Given the description of an element on the screen output the (x, y) to click on. 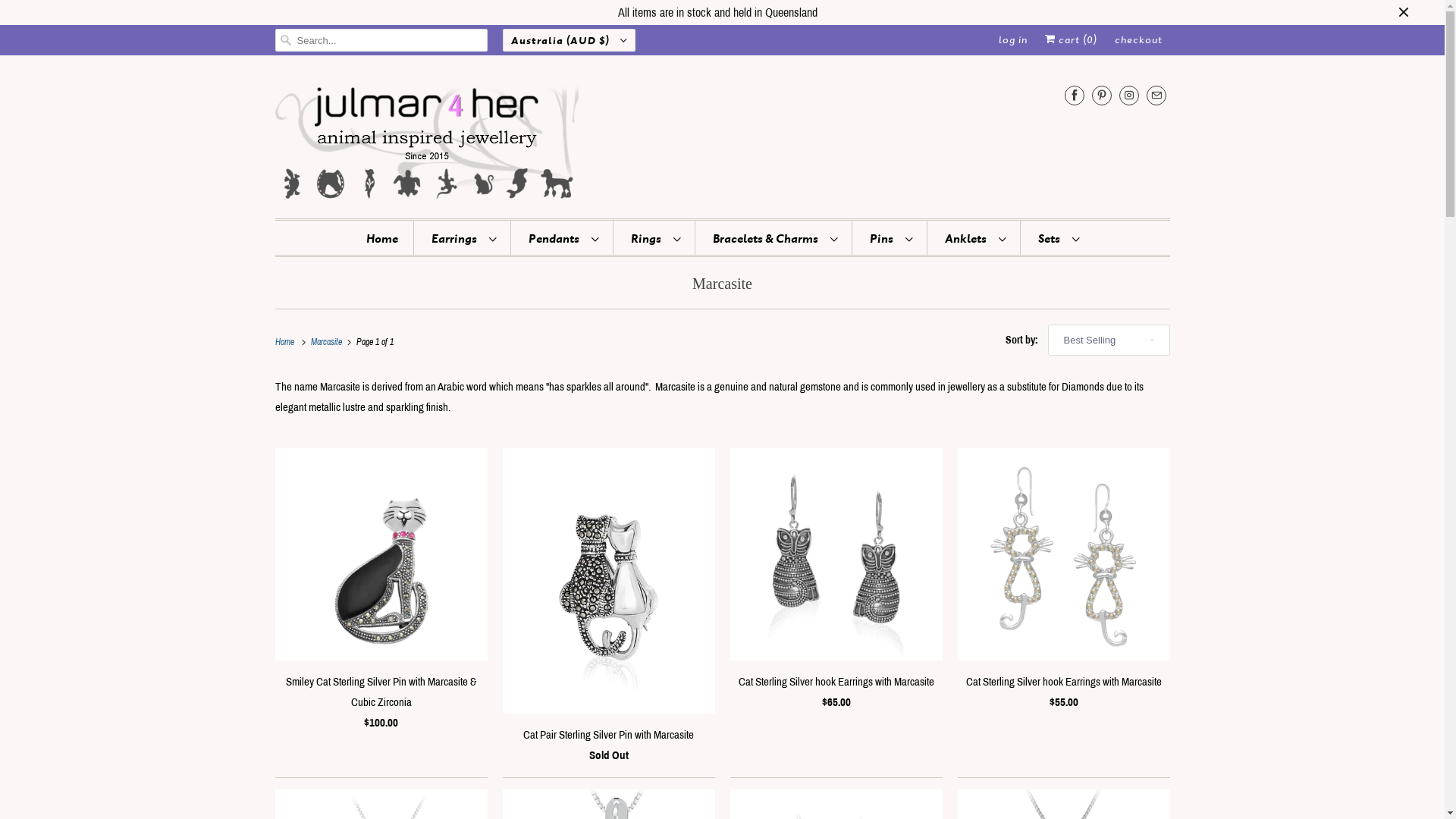
Julmar 4 Her on Pinterest Element type: hover (1101, 95)
Cat Sterling Silver hook Earrings with Marcasite
$65.00 Element type: text (835, 583)
Email Julmar 4 Her Element type: hover (1156, 95)
All items are in stock and held in Queensland Element type: text (717, 12)
Cat Sterling Silver hook Earrings with Marcasite
$55.00 Element type: text (1063, 583)
Australia (AUD $) Element type: text (568, 39)
cart (0) Element type: text (1070, 39)
Julmar 4 Her Element type: hover (721, 140)
Cat Pair Sterling Silver Pin with Marcasite
Sold Out Element type: text (608, 609)
Home Element type: text (382, 238)
Marcasite Element type: text (722, 283)
Julmar 4 Her on Facebook Element type: hover (1074, 95)
Home Element type: text (286, 341)
Julmar 4 Her on Instagram Element type: hover (1129, 95)
Marcasite Element type: text (328, 341)
log in Element type: text (1011, 39)
checkout Element type: text (1138, 39)
